Given the description of an element on the screen output the (x, y) to click on. 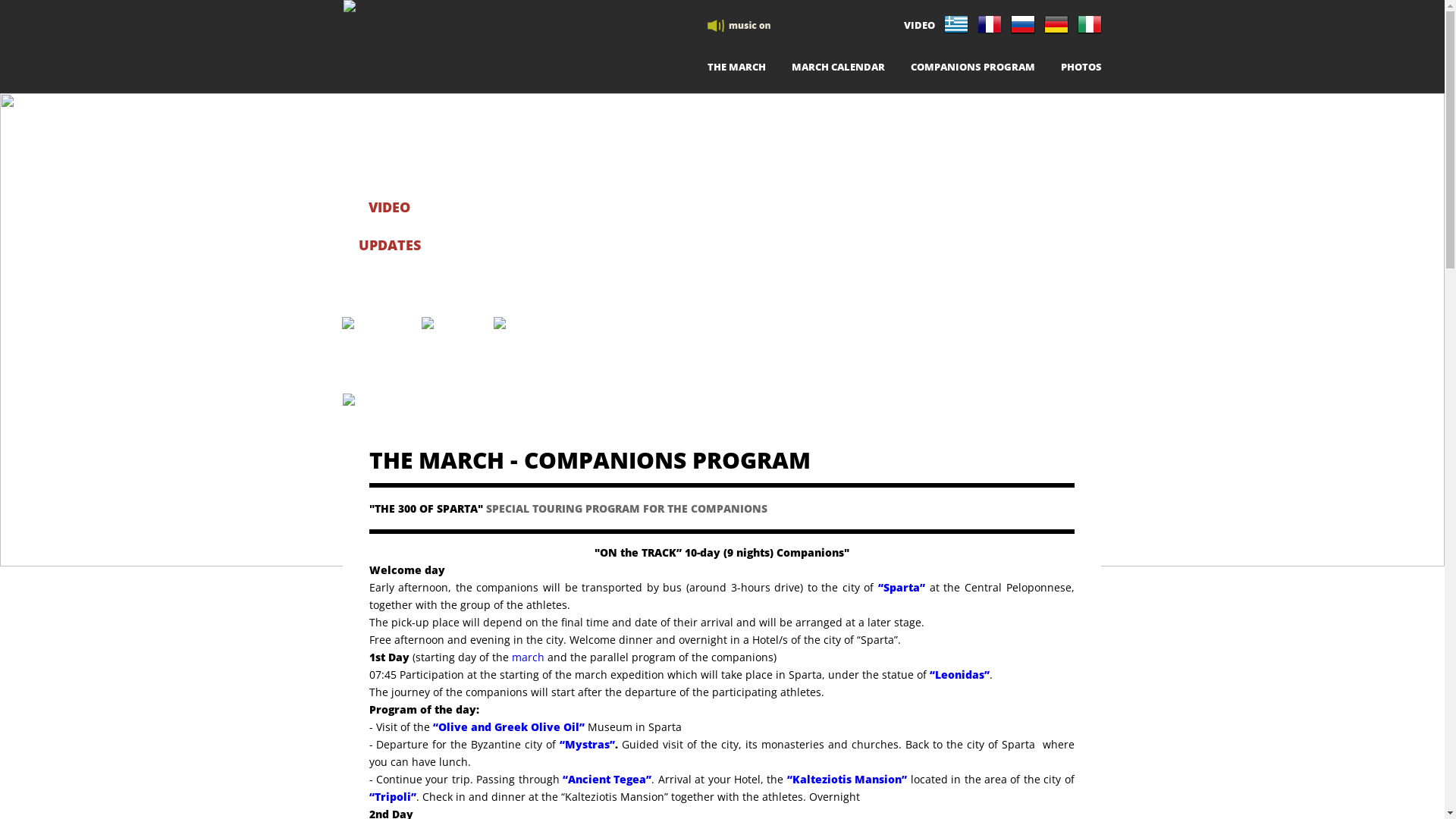
PHOTOS Element type: text (1080, 70)
MARCH CALENDAR Element type: text (837, 70)
VIDEO Element type: text (919, 24)
march Element type: text (527, 656)
COMPANIONS PROGRAM Element type: text (972, 70)
THE MARCH Element type: text (735, 70)
